Given the description of an element on the screen output the (x, y) to click on. 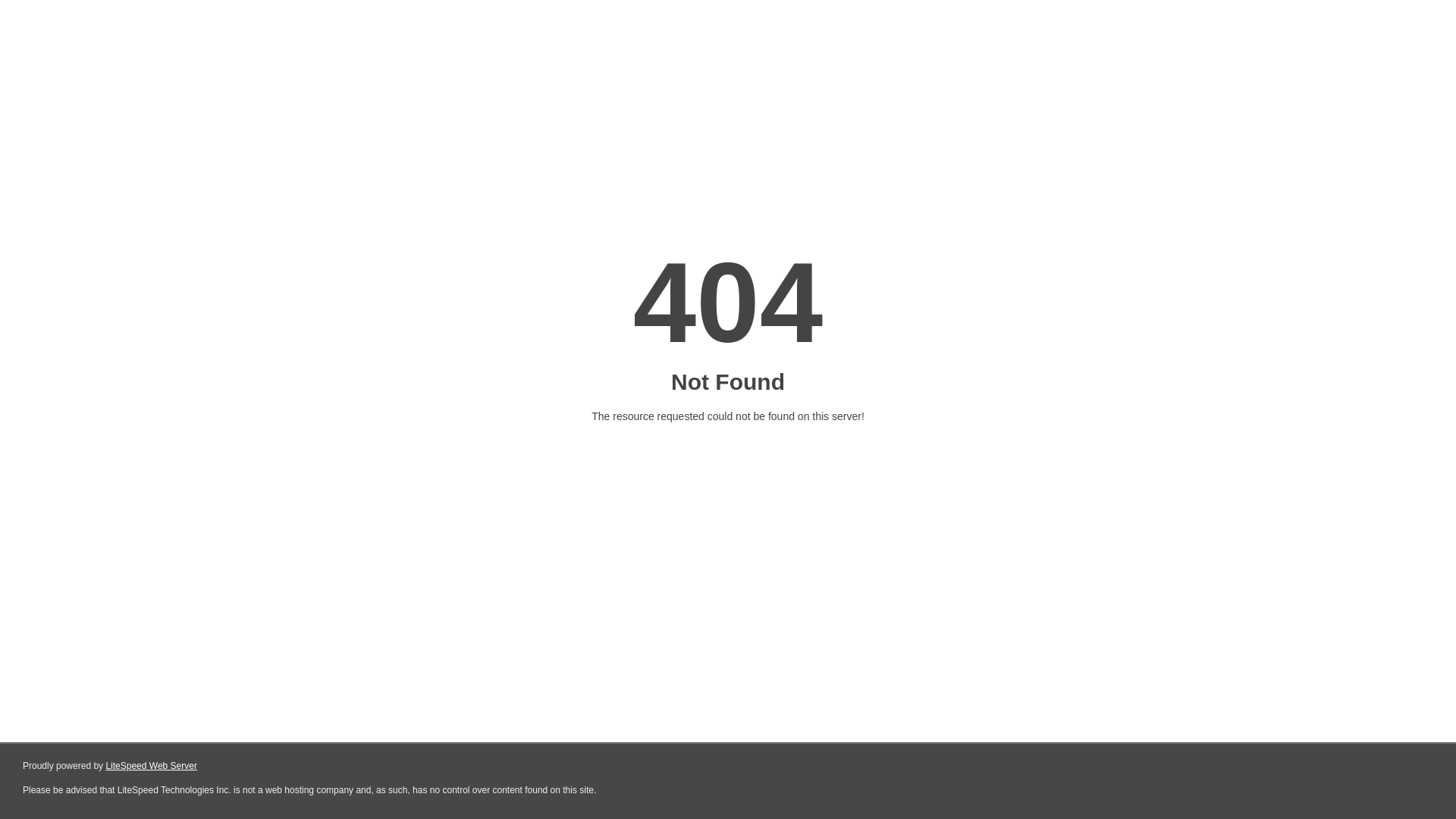
LiteSpeed Web Server (150, 765)
